Given the description of an element on the screen output the (x, y) to click on. 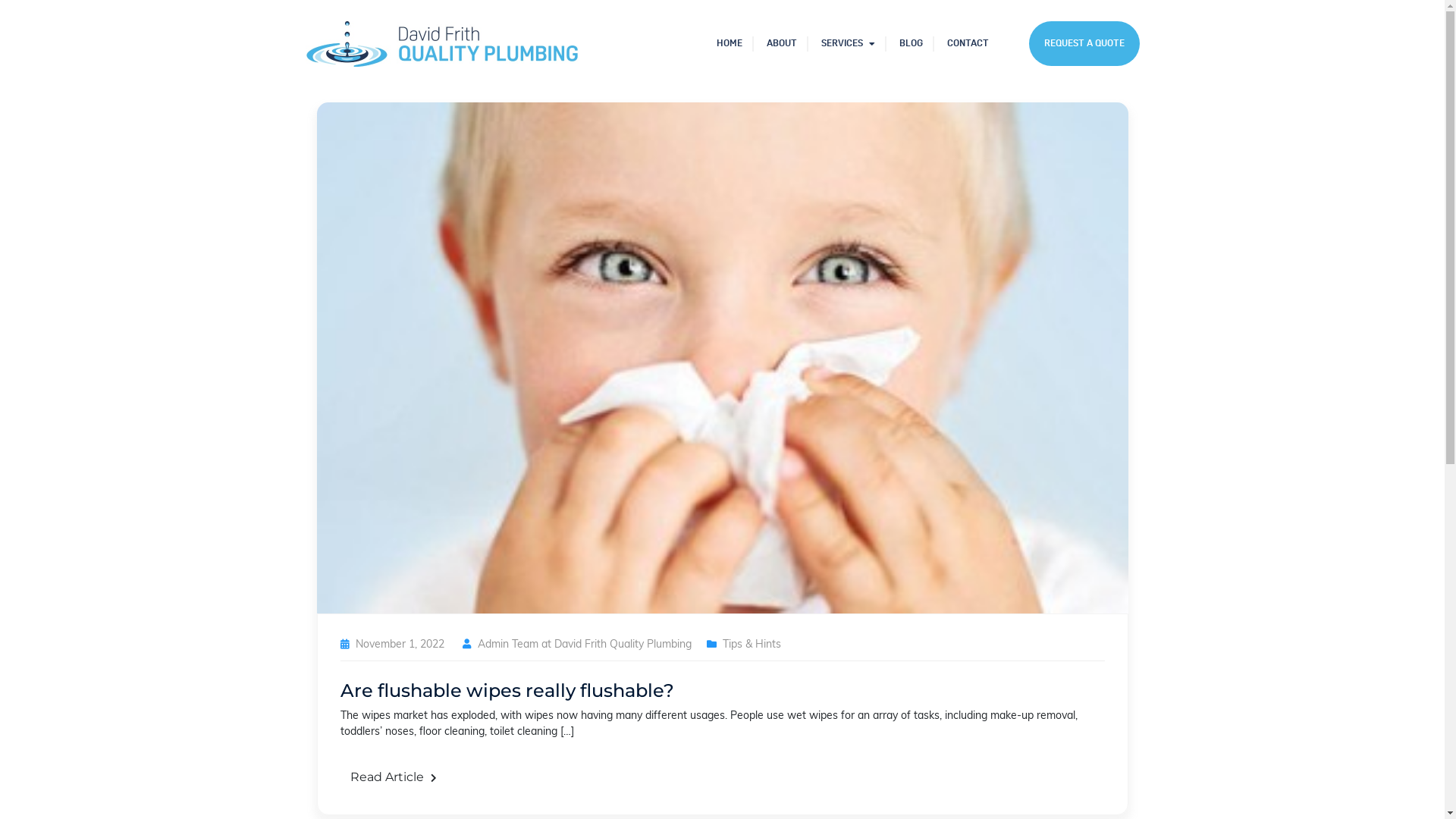
BLOG Element type: text (910, 43)
REQUEST A QUOTE Element type: text (1083, 43)
SERVICES Element type: text (847, 43)
Skip to content Element type: text (0, 0)
Tips & Hints Element type: text (750, 644)
Read Are flushable wipes really flushable? Element type: hover (722, 357)
HOME Element type: text (728, 43)
ABOUT Element type: text (780, 43)
Are flushable wipes really flushable? Element type: text (506, 690)
CONTACT Element type: text (967, 43)
Read Article Element type: text (392, 776)
November 1, 2022 Element type: text (398, 644)
Admin Team at David Frith Quality Plumbing Element type: text (584, 644)
